Given the description of an element on the screen output the (x, y) to click on. 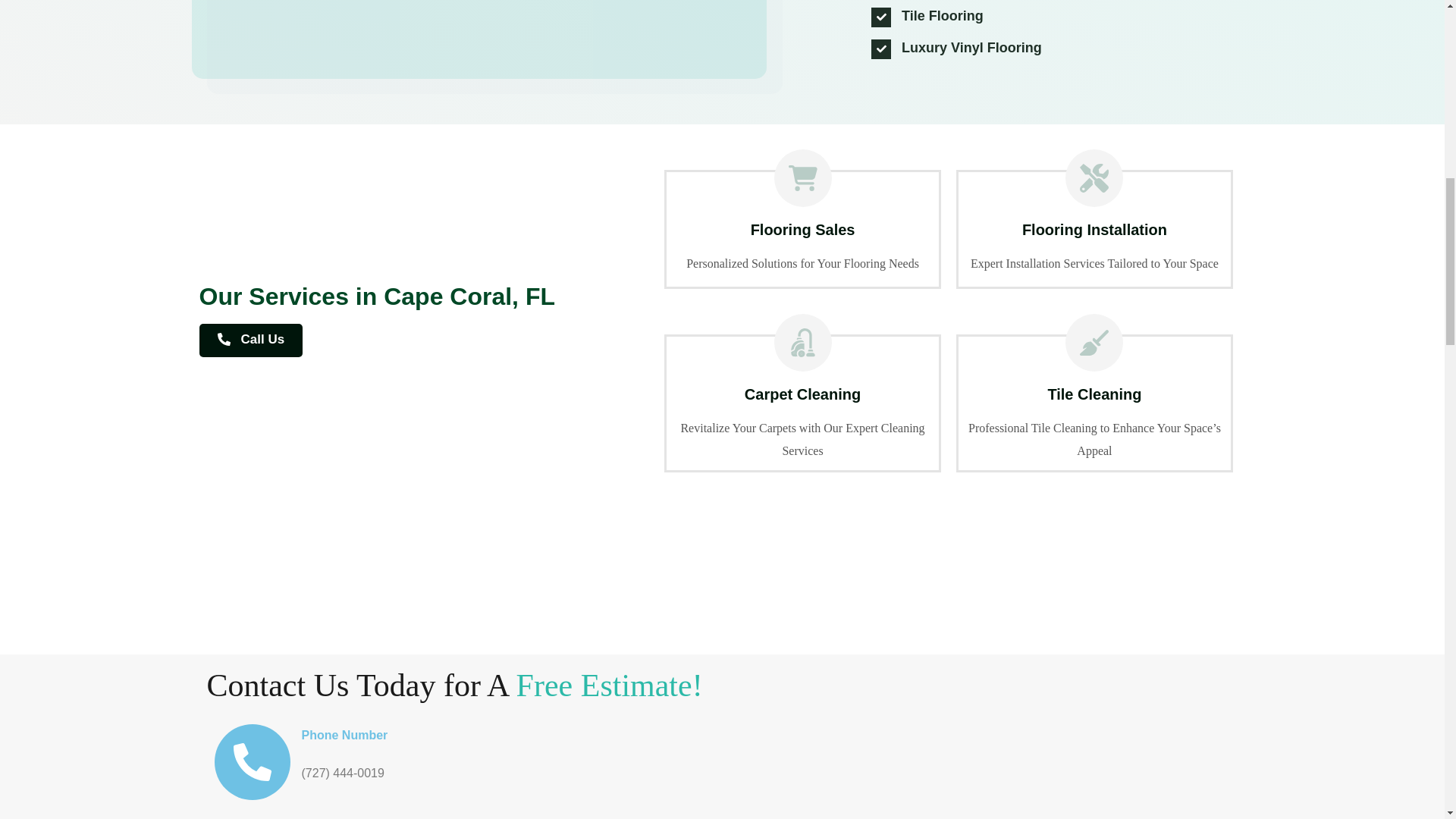
Phone Number (344, 735)
Call Us (250, 340)
Flooring Sales (493, 47)
